Given the description of an element on the screen output the (x, y) to click on. 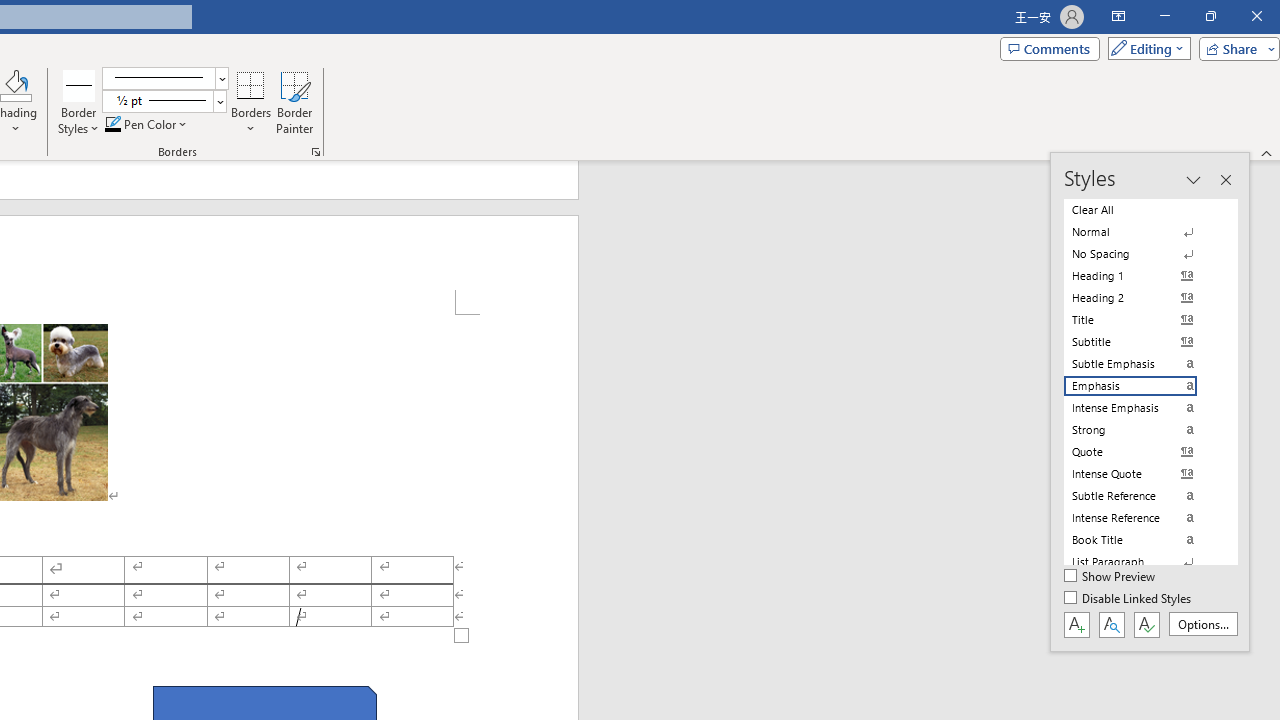
Pen Color RGB(0, 0, 0) (113, 124)
